Given the description of an element on the screen output the (x, y) to click on. 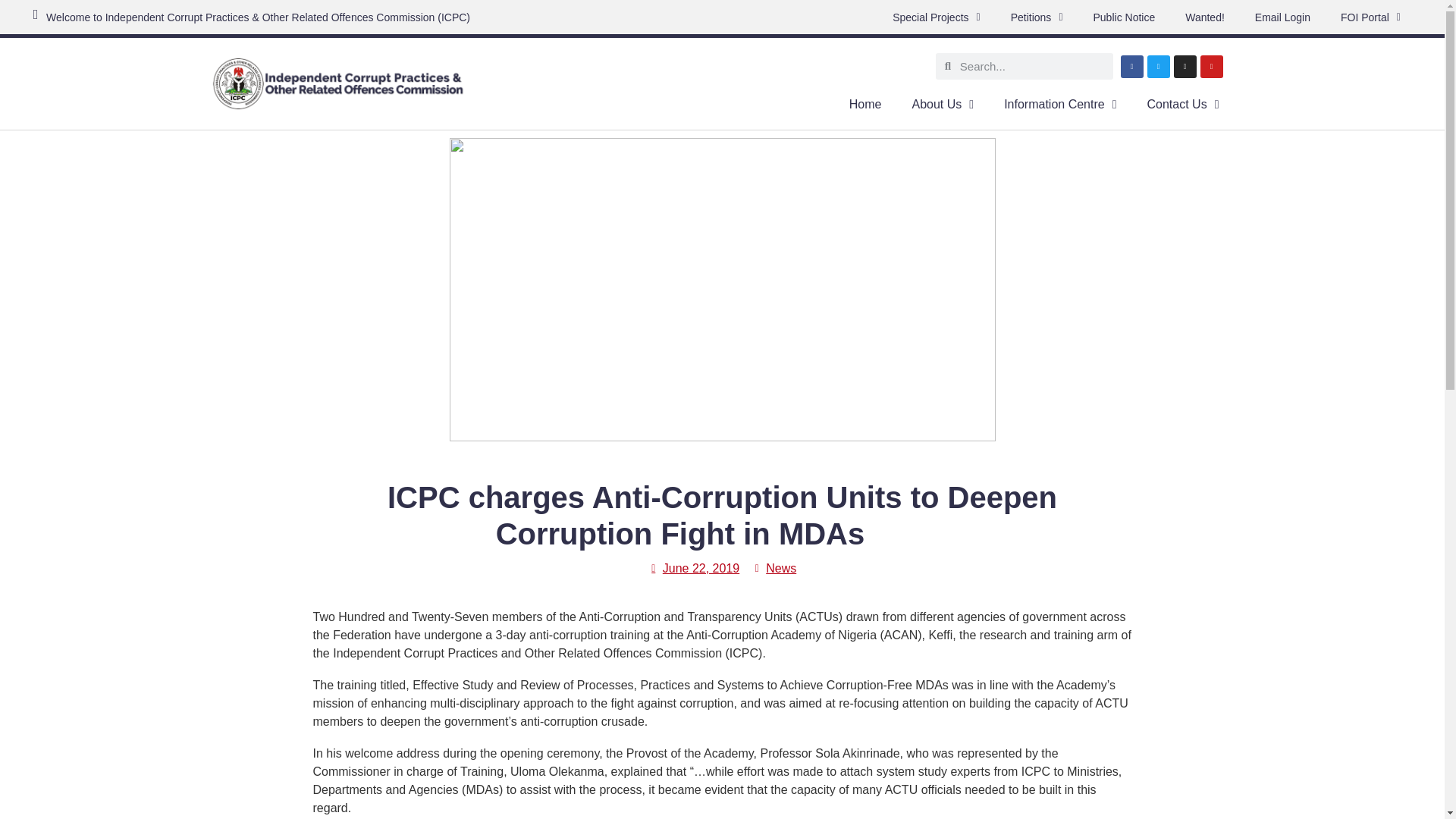
Email Login (1282, 16)
Special Projects (936, 16)
Wanted! (1205, 16)
Petitions (1036, 16)
FOI Portal (1369, 16)
Public Notice (1124, 16)
